Given the description of an element on the screen output the (x, y) to click on. 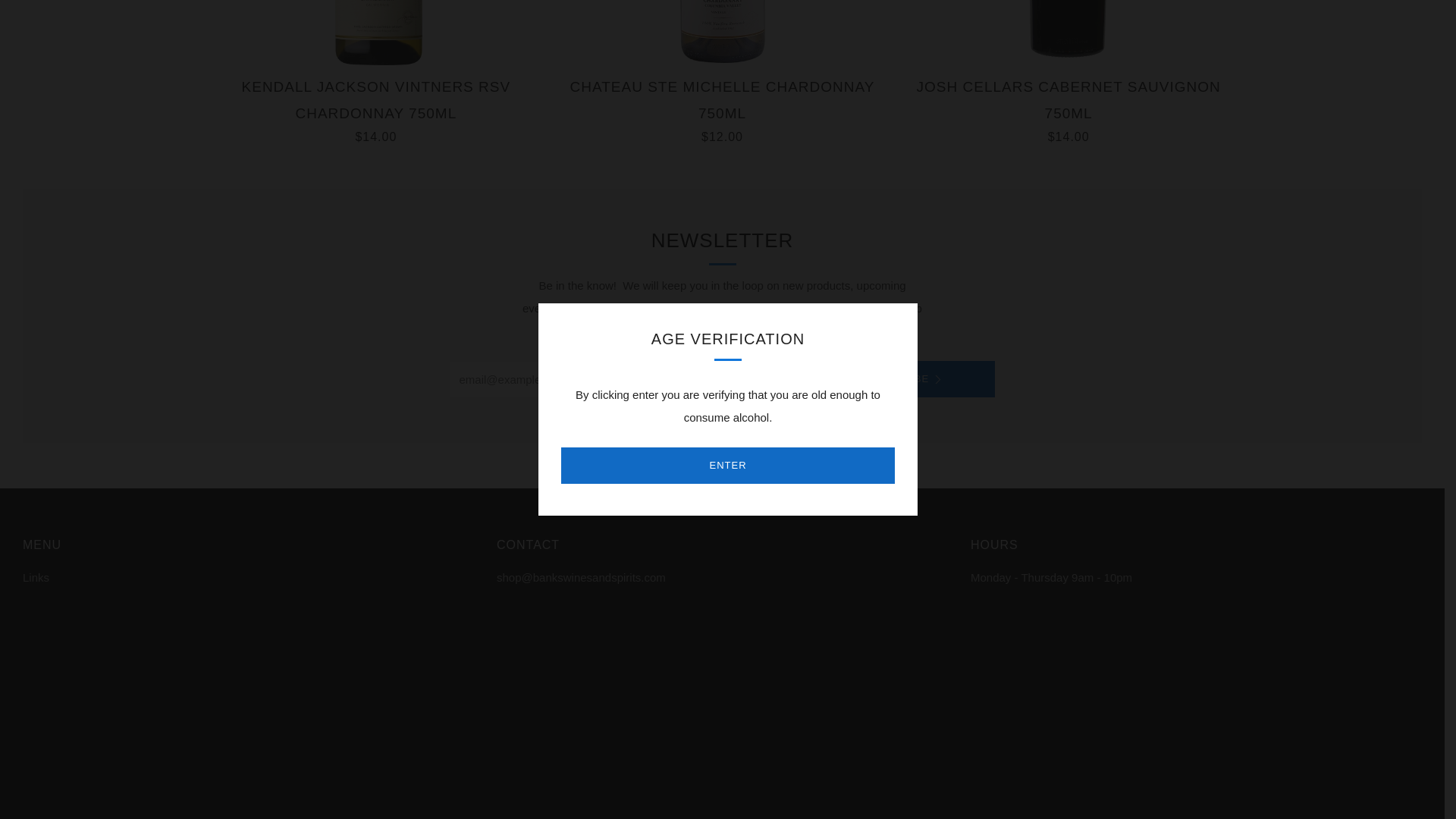
CHATEAU STE MICHELLE CHARDONNAY 750ML (721, 33)
KENDALL JACKSON VINTNERS RSV CHARDONNAY 750ML (376, 33)
JOSH CELLARS CABERNET SAUVIGNON 750ML (1068, 33)
